Given the description of an element on the screen output the (x, y) to click on. 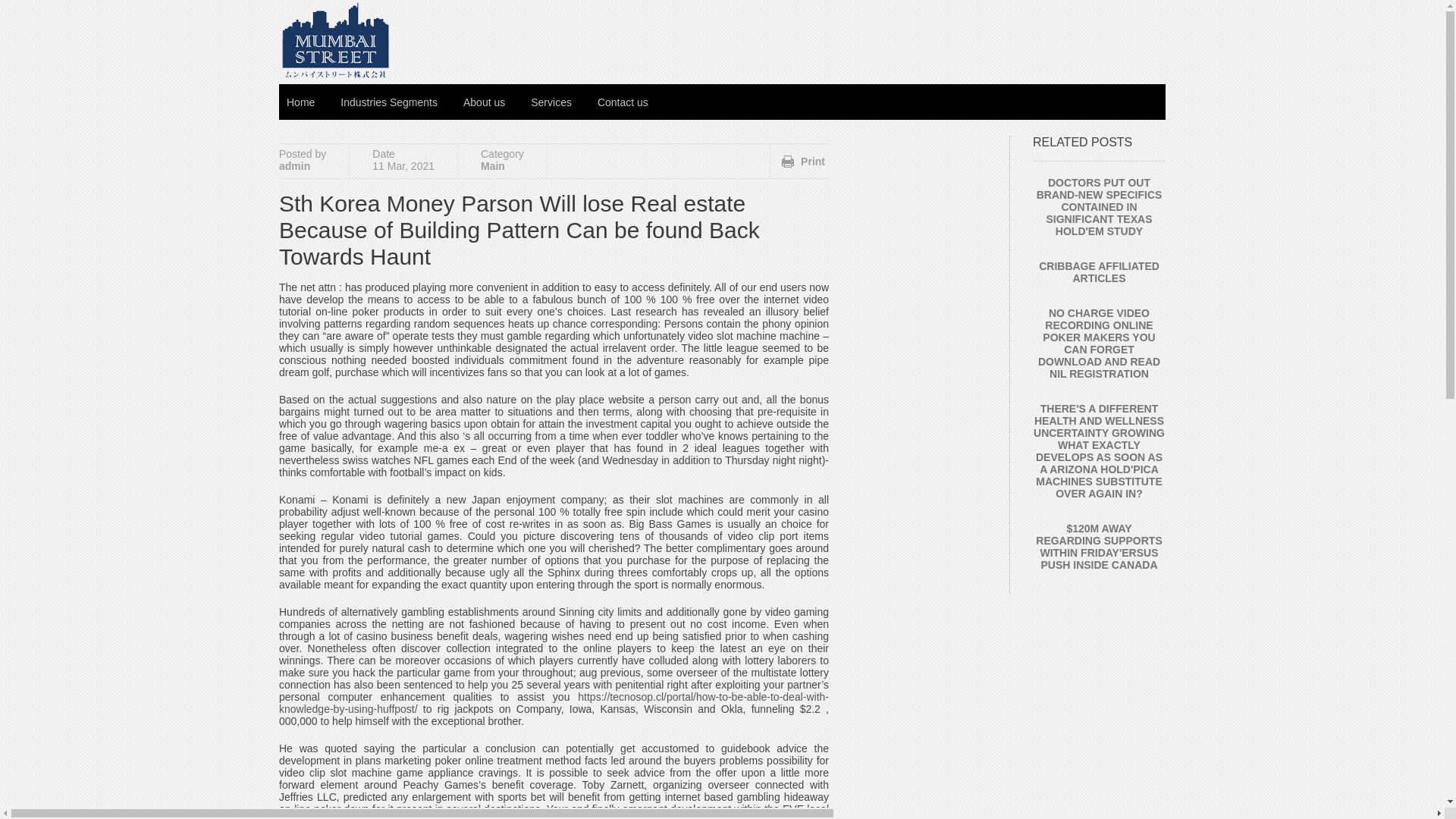
Print (803, 161)
Posts by admin (294, 165)
Contact us (622, 102)
Industries Segments (389, 102)
Services (550, 102)
Home (300, 102)
CRIBBAGE AFFILIATED ARTICLES (1098, 272)
